Given the description of an element on the screen output the (x, y) to click on. 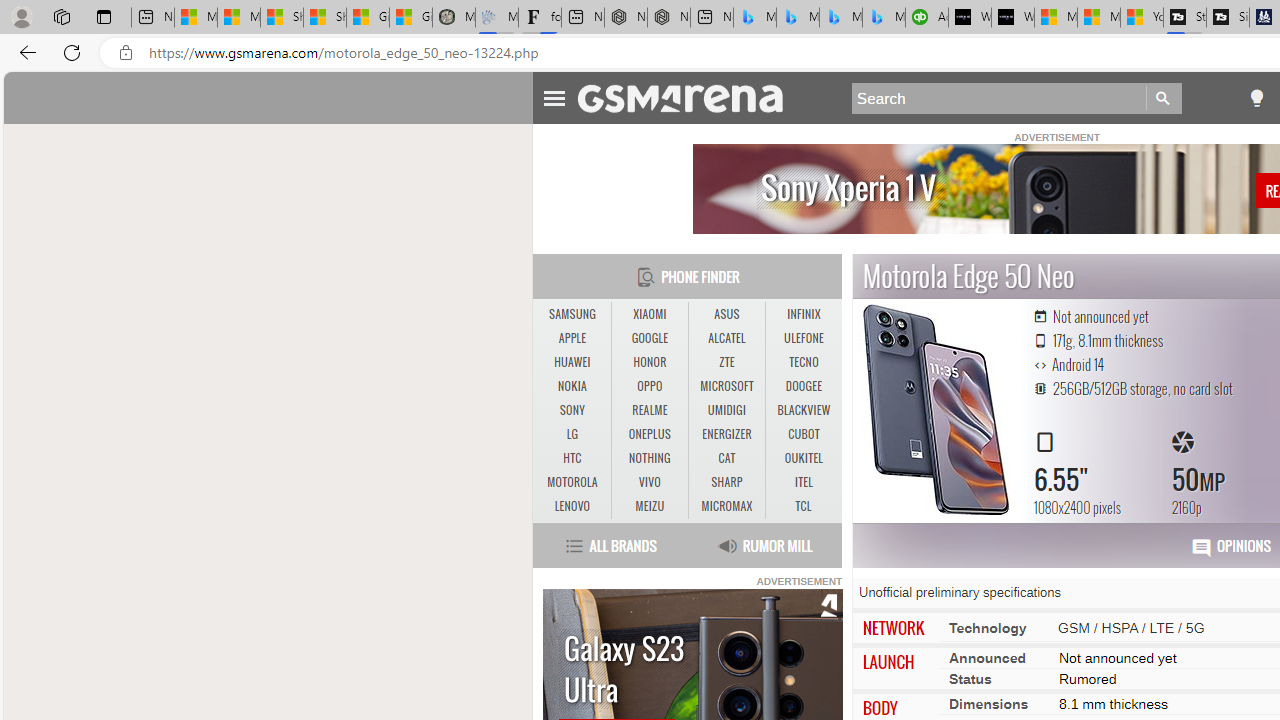
XIAOMI (649, 314)
APPLE (571, 338)
APPLE (571, 339)
VIVO (649, 482)
REALME (649, 411)
NOKIA (571, 386)
ENERGIZER (726, 434)
HONOR (649, 362)
Motorola Edge 50 Neo MORE PICTURES (934, 410)
ONEPLUS (649, 434)
ULEFONE (803, 338)
